Given the description of an element on the screen output the (x, y) to click on. 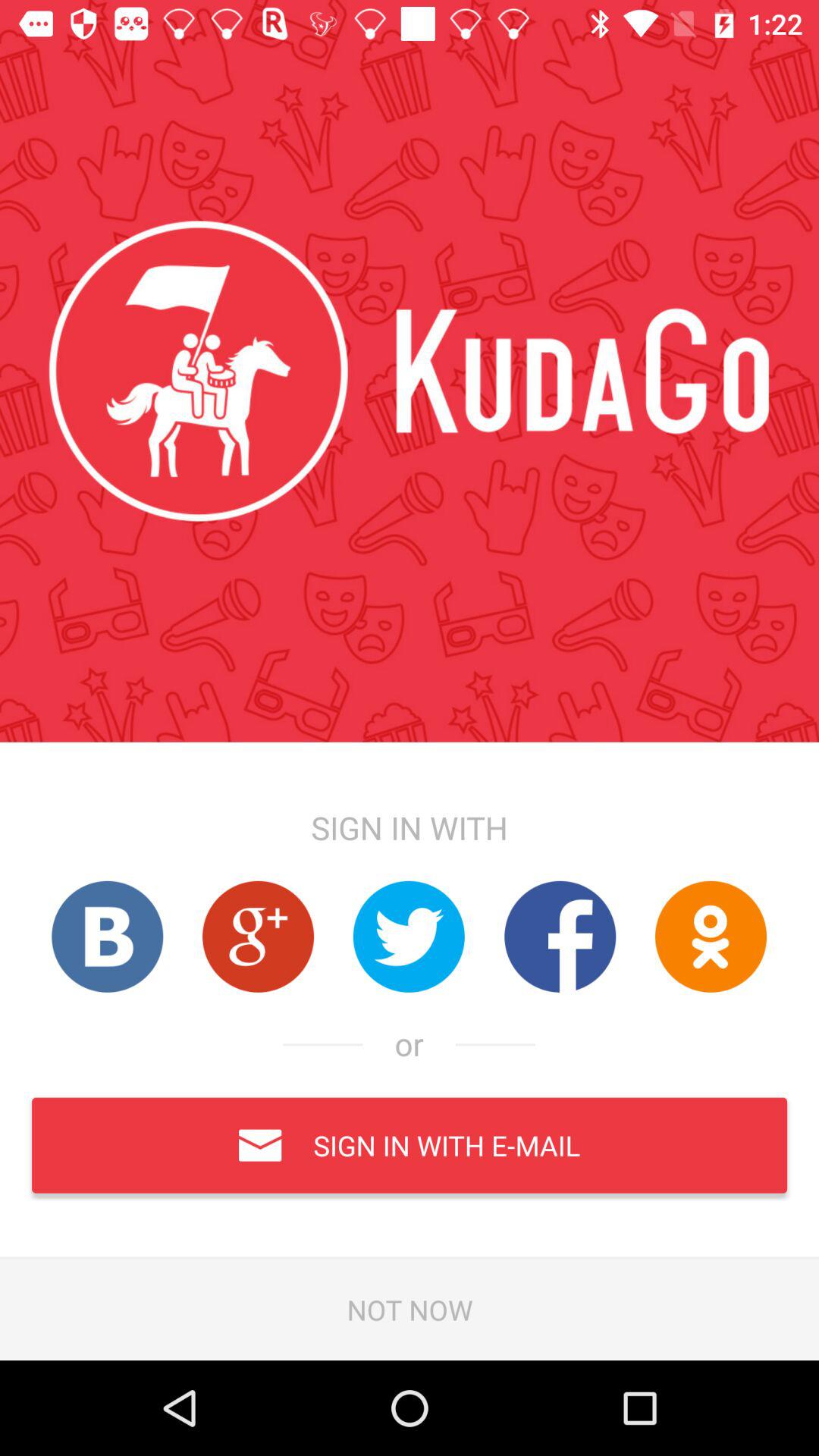
sign into facebook (559, 936)
